Given the description of an element on the screen output the (x, y) to click on. 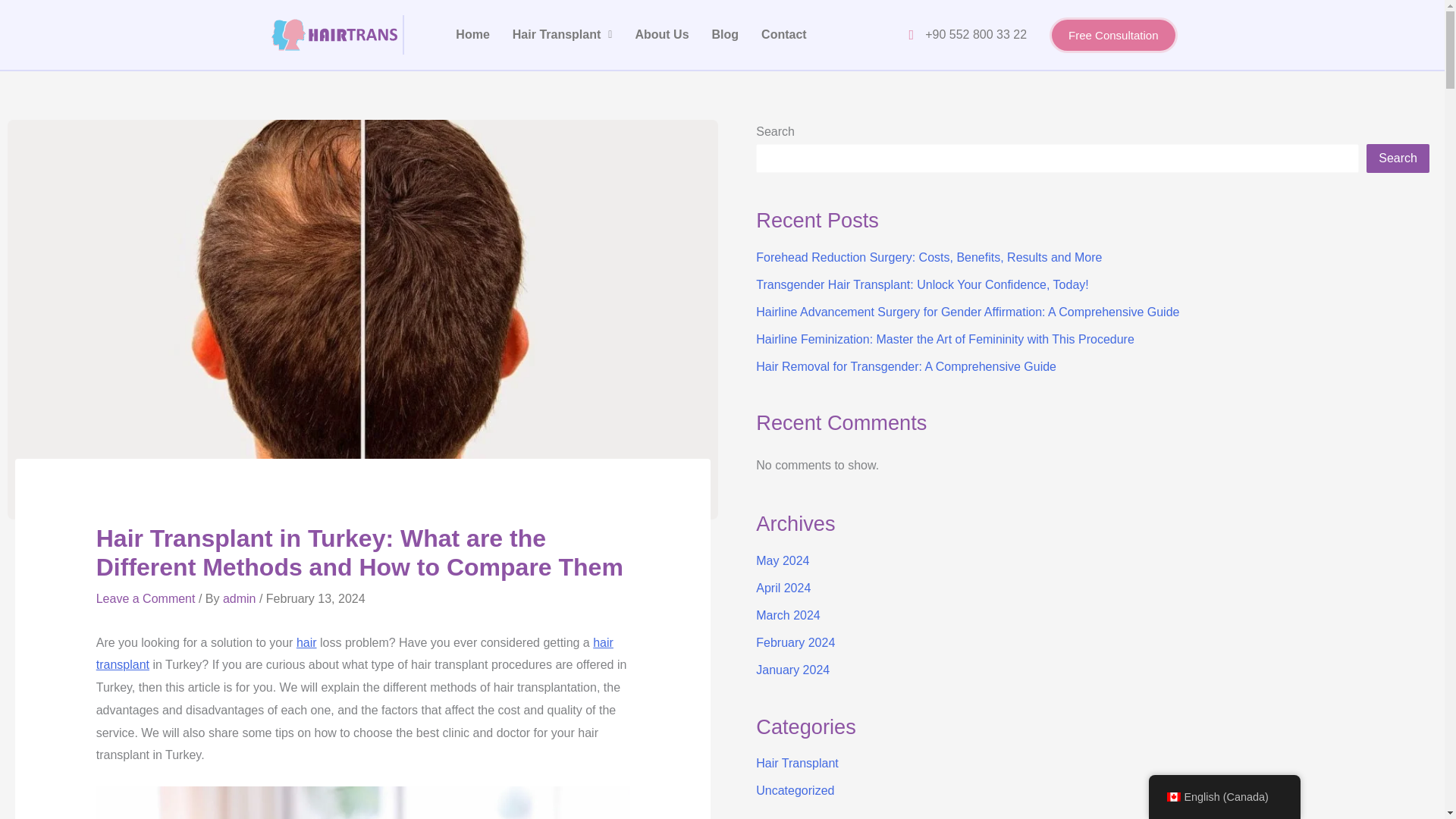
Leave a Comment (145, 597)
Contact (783, 34)
Hair Transplant (562, 34)
Free Consultation (1112, 35)
Home (472, 34)
hair transplant (354, 653)
hair transplant (354, 653)
About Us (661, 34)
Blog (725, 34)
View all posts by admin (240, 597)
admin (240, 597)
hair (307, 642)
